Given the description of an element on the screen output the (x, y) to click on. 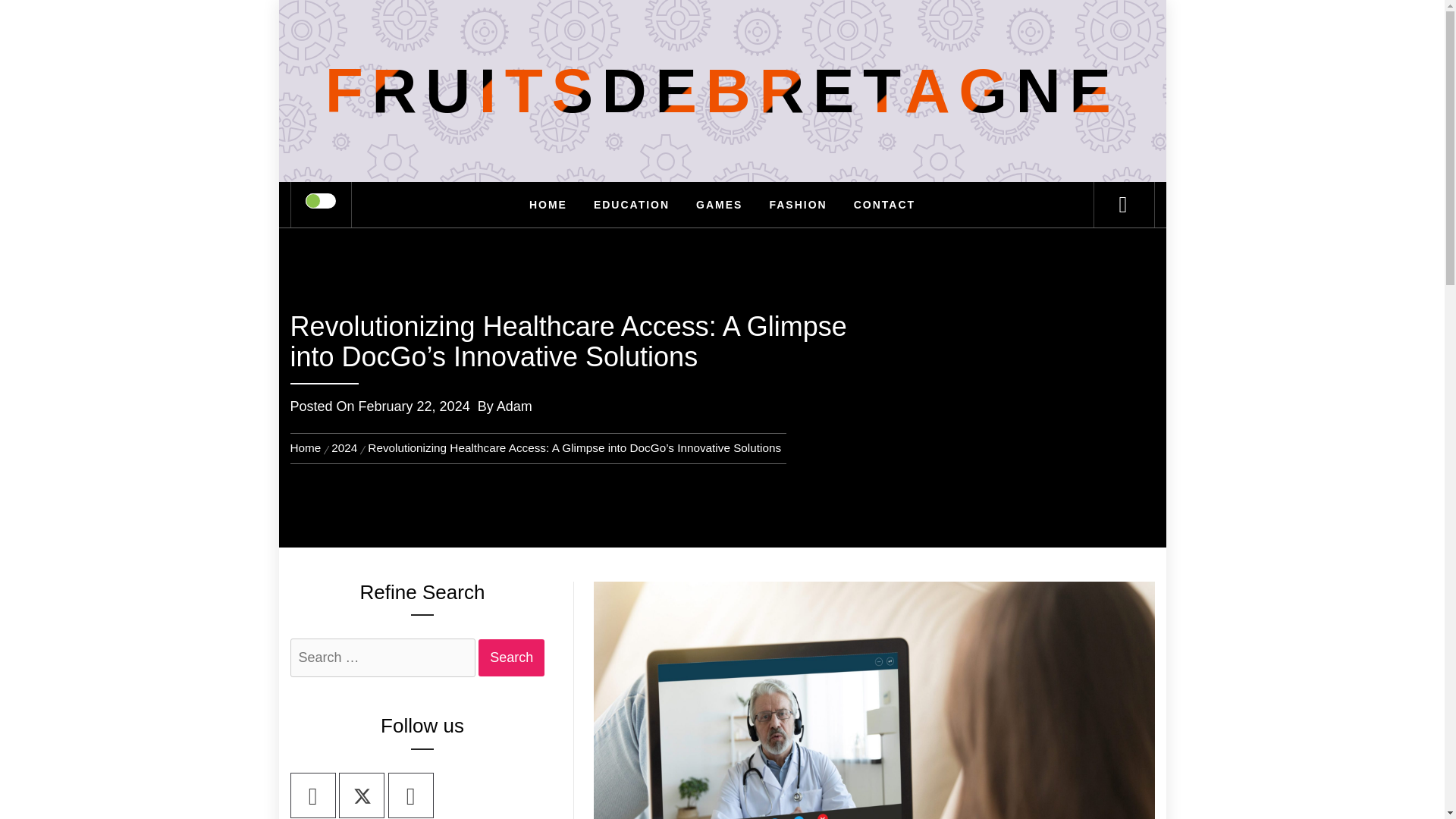
2024 (344, 447)
Search (511, 657)
Home (307, 447)
CONTACT (884, 204)
February 22, 2024 (414, 406)
Adam (514, 406)
EDUCATION (631, 204)
Search (797, 33)
FASHION (797, 204)
HOME (548, 204)
GAMES (719, 204)
Search (511, 657)
Search (511, 657)
FRUITSDEBRETAGNE (721, 90)
